Given the description of an element on the screen output the (x, y) to click on. 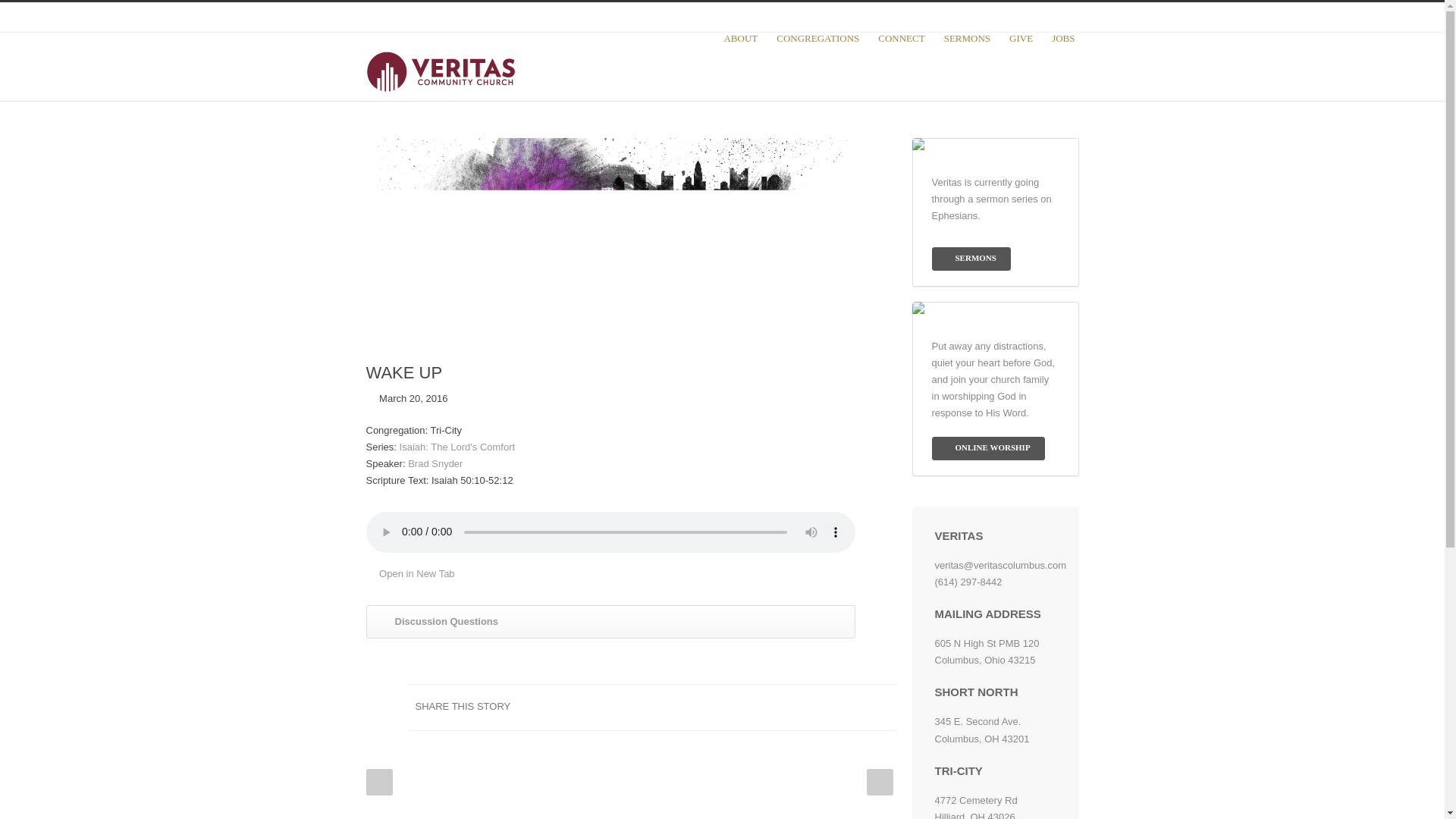
Facebook (1002, 17)
Reddit (759, 707)
Facebook (1002, 17)
Twitter (971, 17)
Vimeo (1063, 17)
Instagram (1032, 17)
Facebook (668, 707)
Twitter (971, 17)
Twitter (699, 707)
E-Mail (881, 707)
